Given the description of an element on the screen output the (x, y) to click on. 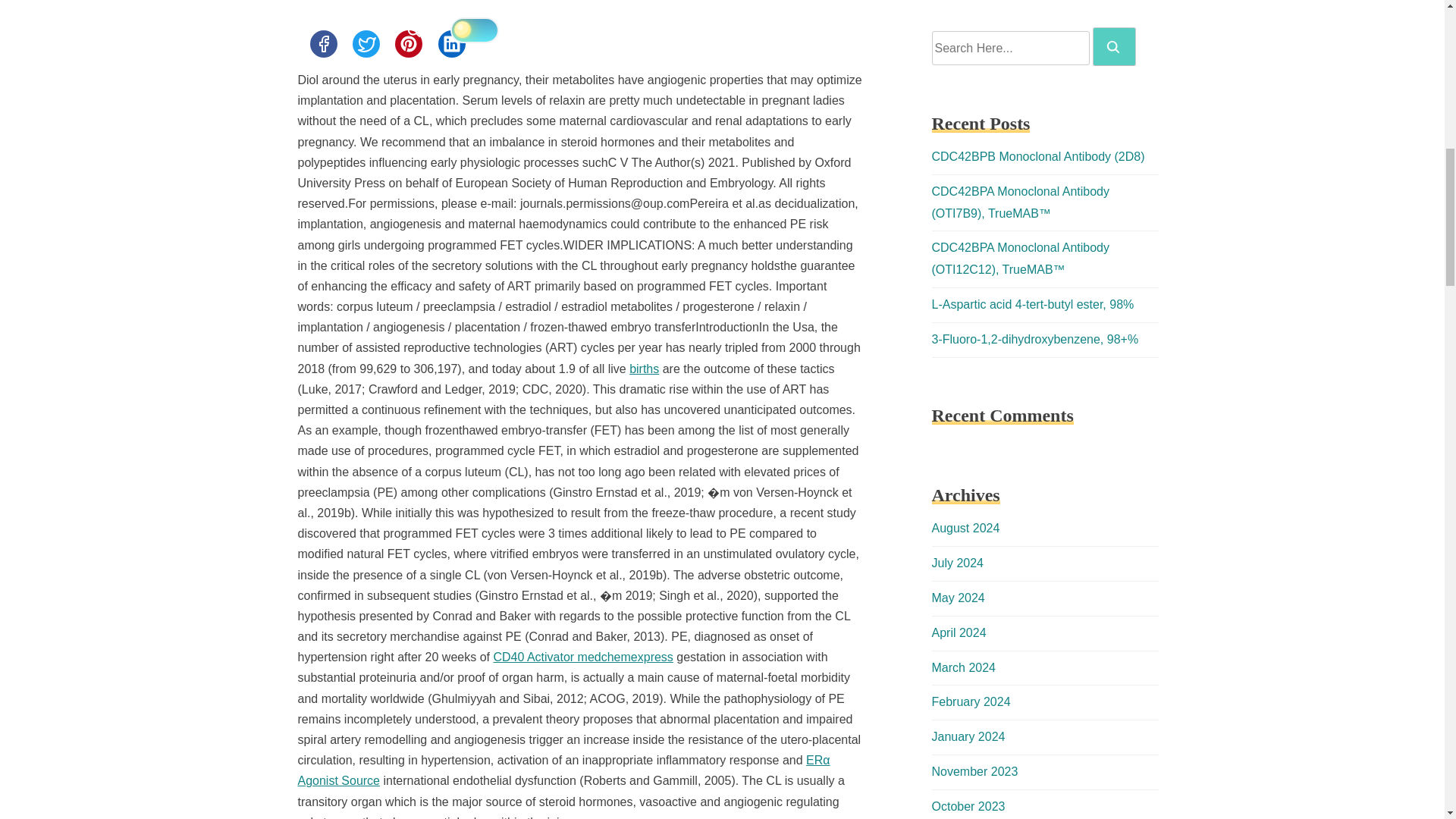
births (643, 368)
Share this post on Linkedin (451, 43)
Search (1114, 46)
Share this post on Pinterest (408, 43)
CD40 Activator medchemexpress (582, 656)
Search (1113, 46)
Share this post on Facebook (322, 43)
Share this post on Twitter (366, 43)
